Given the description of an element on the screen output the (x, y) to click on. 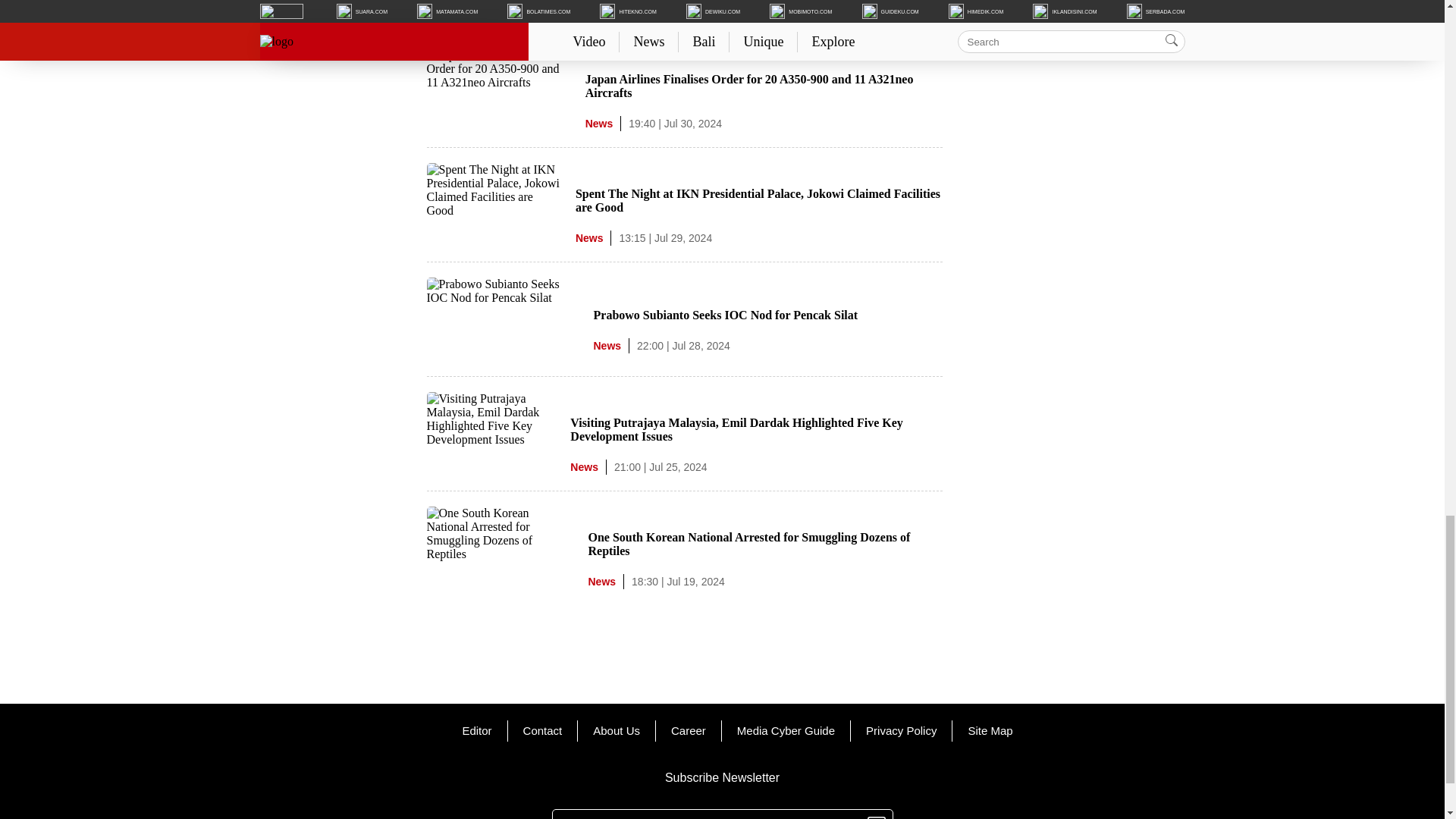
Prabowo Subianto Seeks IOC Nod for Pencak Silat (502, 297)
Prabowo Subianto Seeks IOC Nod for Pencak Silat (724, 314)
